Given the description of an element on the screen output the (x, y) to click on. 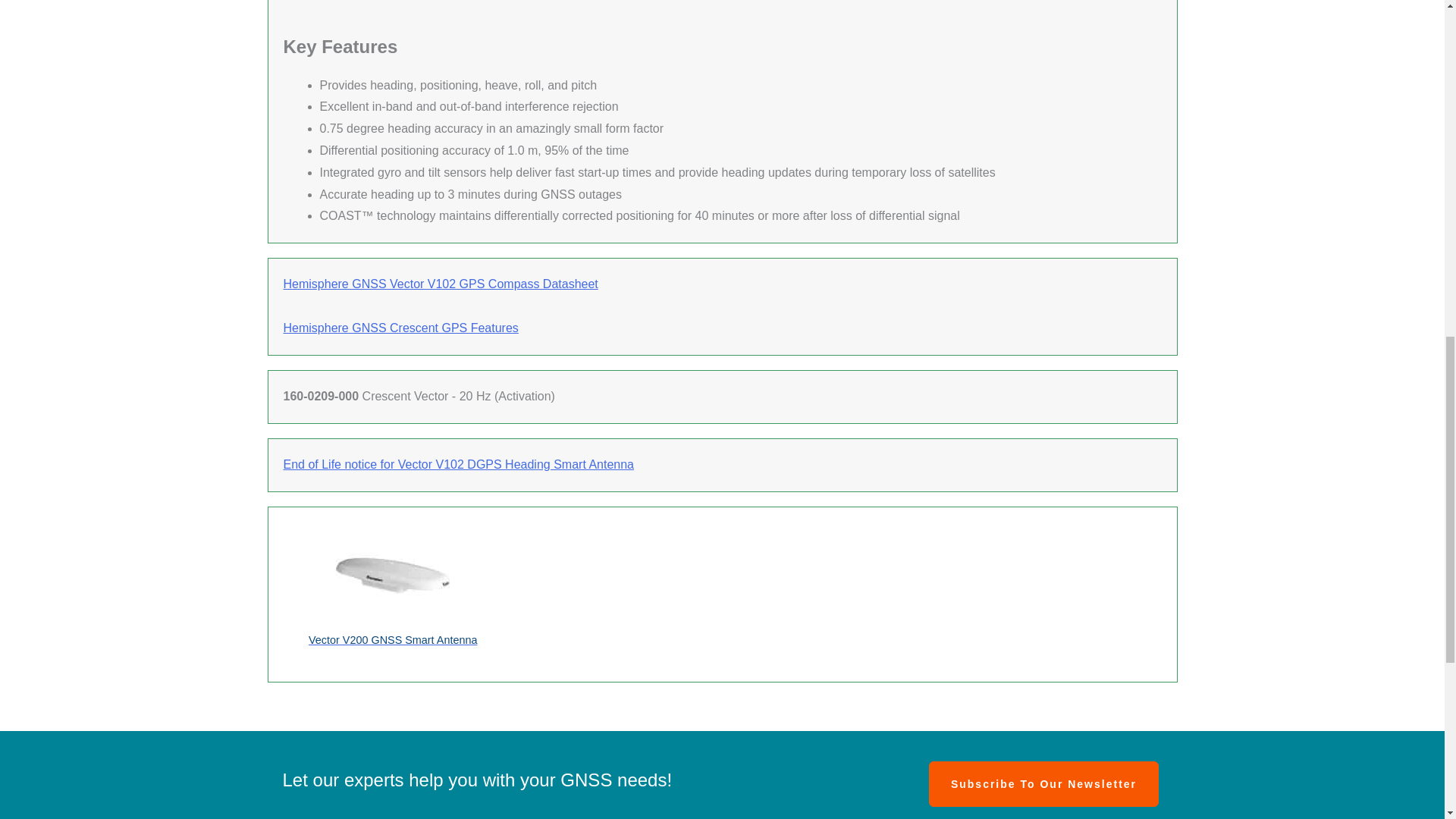
Click Here (1043, 783)
